Given the description of an element on the screen output the (x, y) to click on. 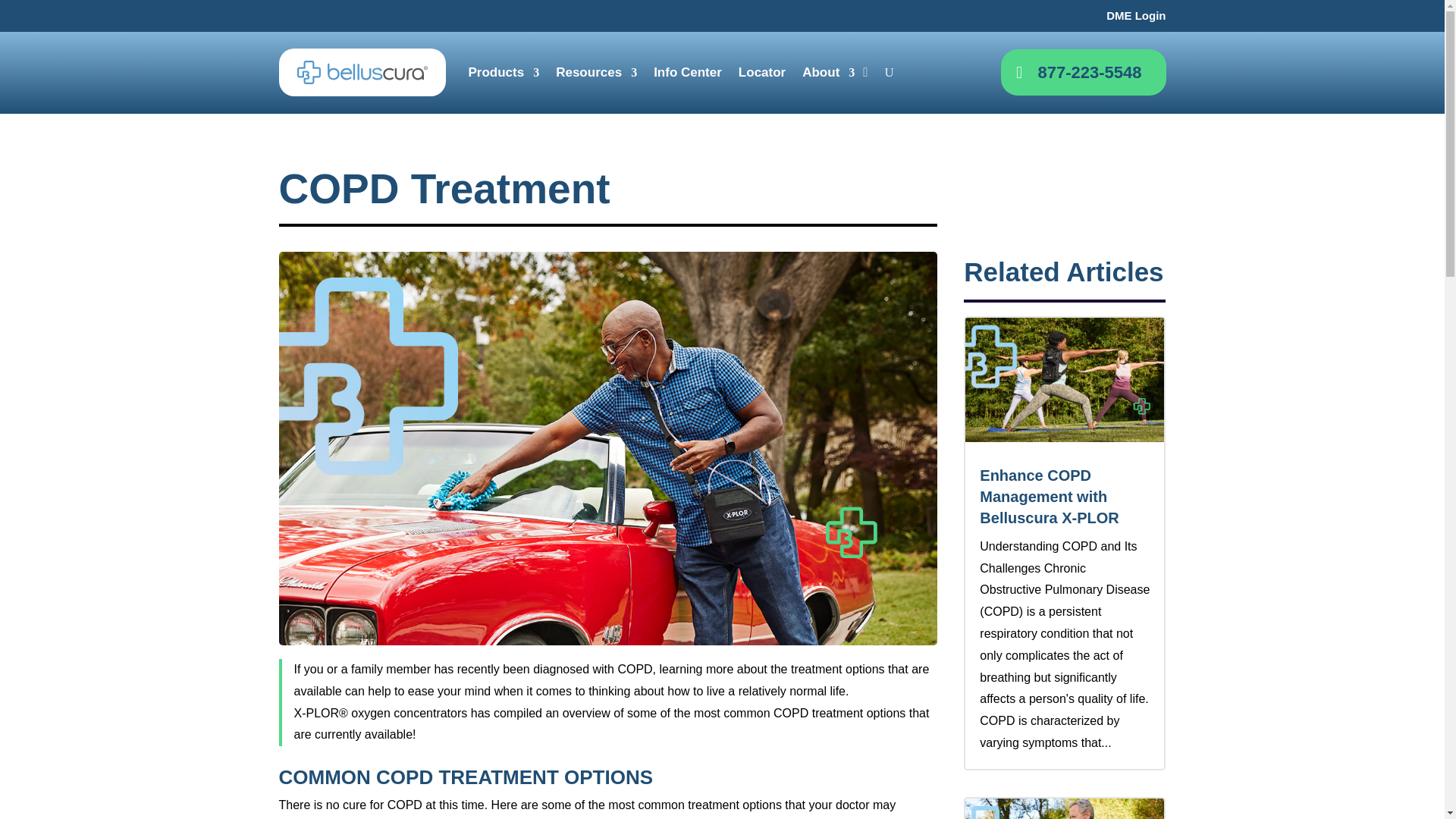
DME Login (1136, 15)
About (828, 72)
Info Center (687, 72)
Products (504, 72)
Resources (596, 72)
